Given the description of an element on the screen output the (x, y) to click on. 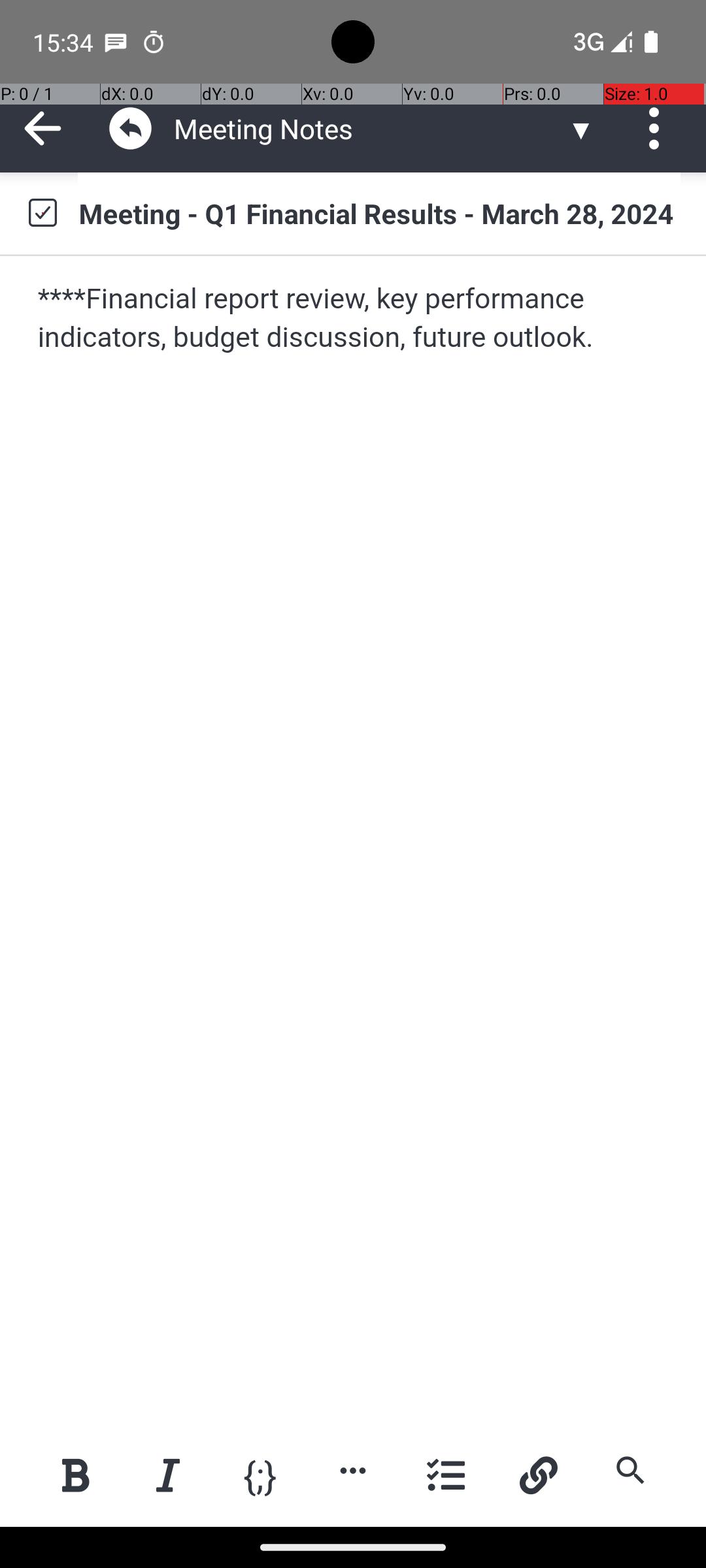
****Financial report review, key performance indicators, budget discussion, future outlook. Element type: android.widget.EditText (354, 318)
